Given the description of an element on the screen output the (x, y) to click on. 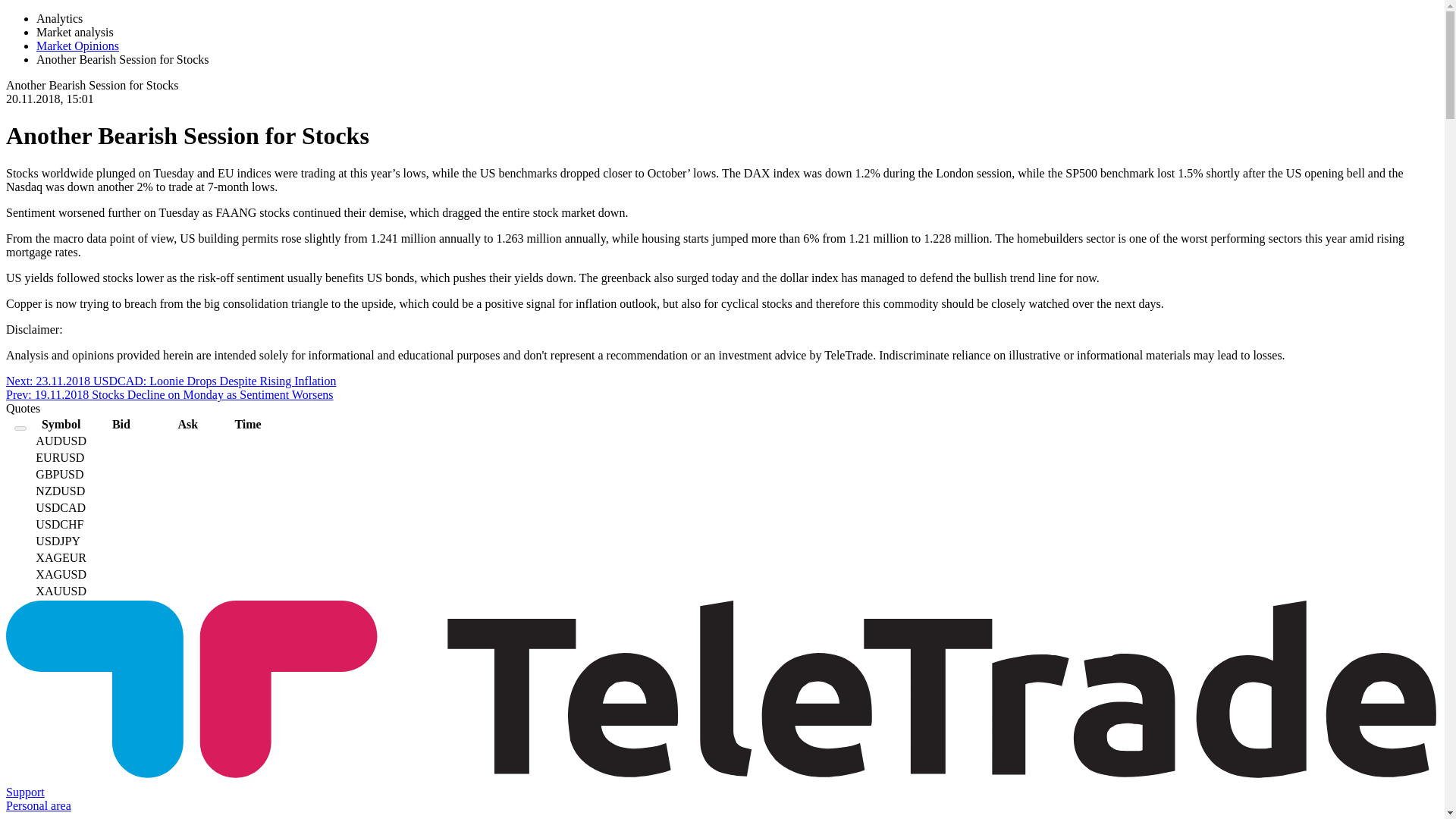
Personal area (38, 805)
Market analysis (74, 31)
Support (25, 791)
Analytics (59, 18)
Market Opinions (77, 45)
